Given the description of an element on the screen output the (x, y) to click on. 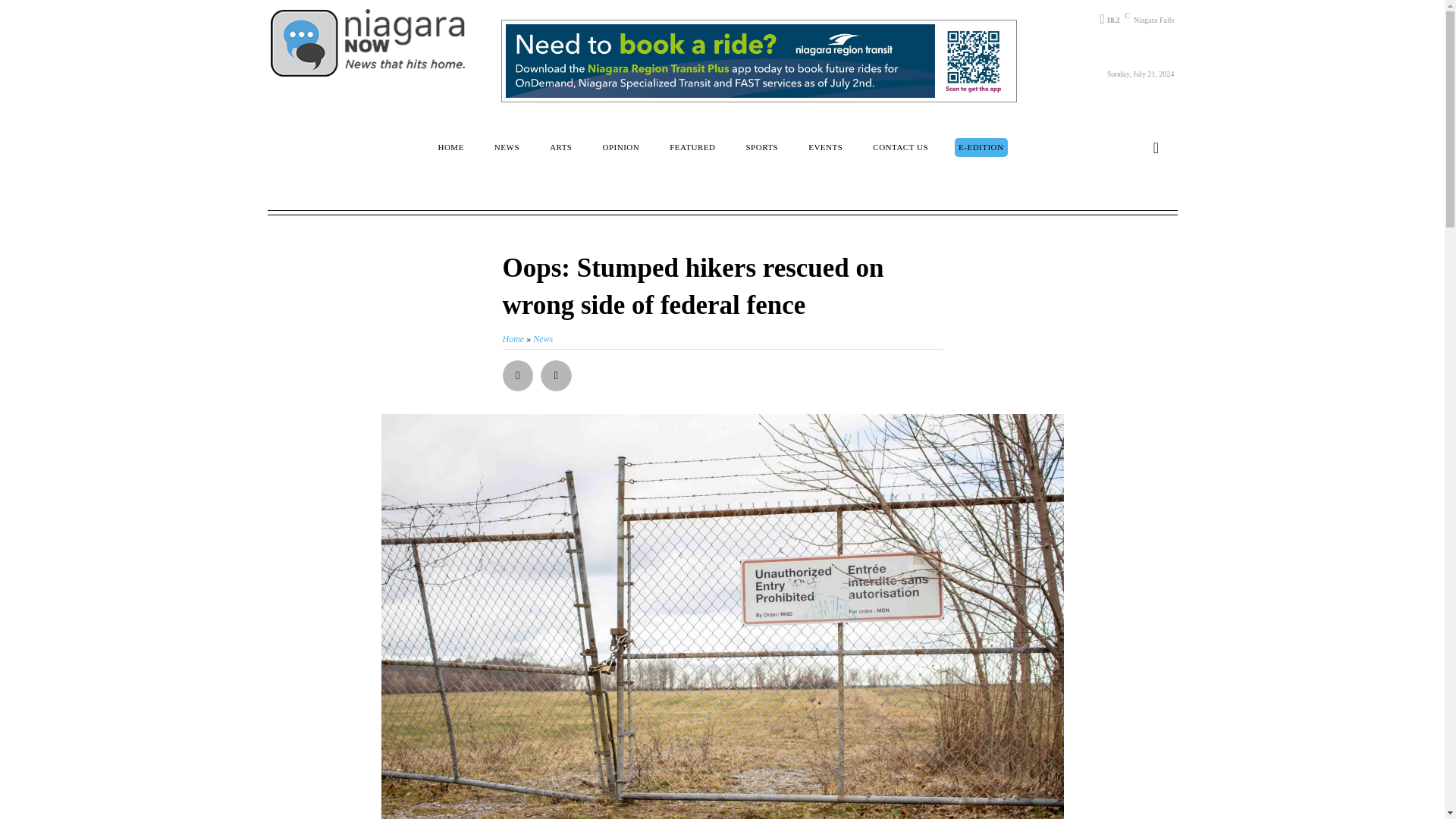
E-EDITION (981, 147)
CONTACT US (900, 147)
NEWS (506, 147)
FEATURED (692, 147)
SPORTS (761, 147)
OPINION (620, 147)
ARTS (560, 147)
EVENTS (825, 147)
HOME (450, 147)
